Given the description of an element on the screen output the (x, y) to click on. 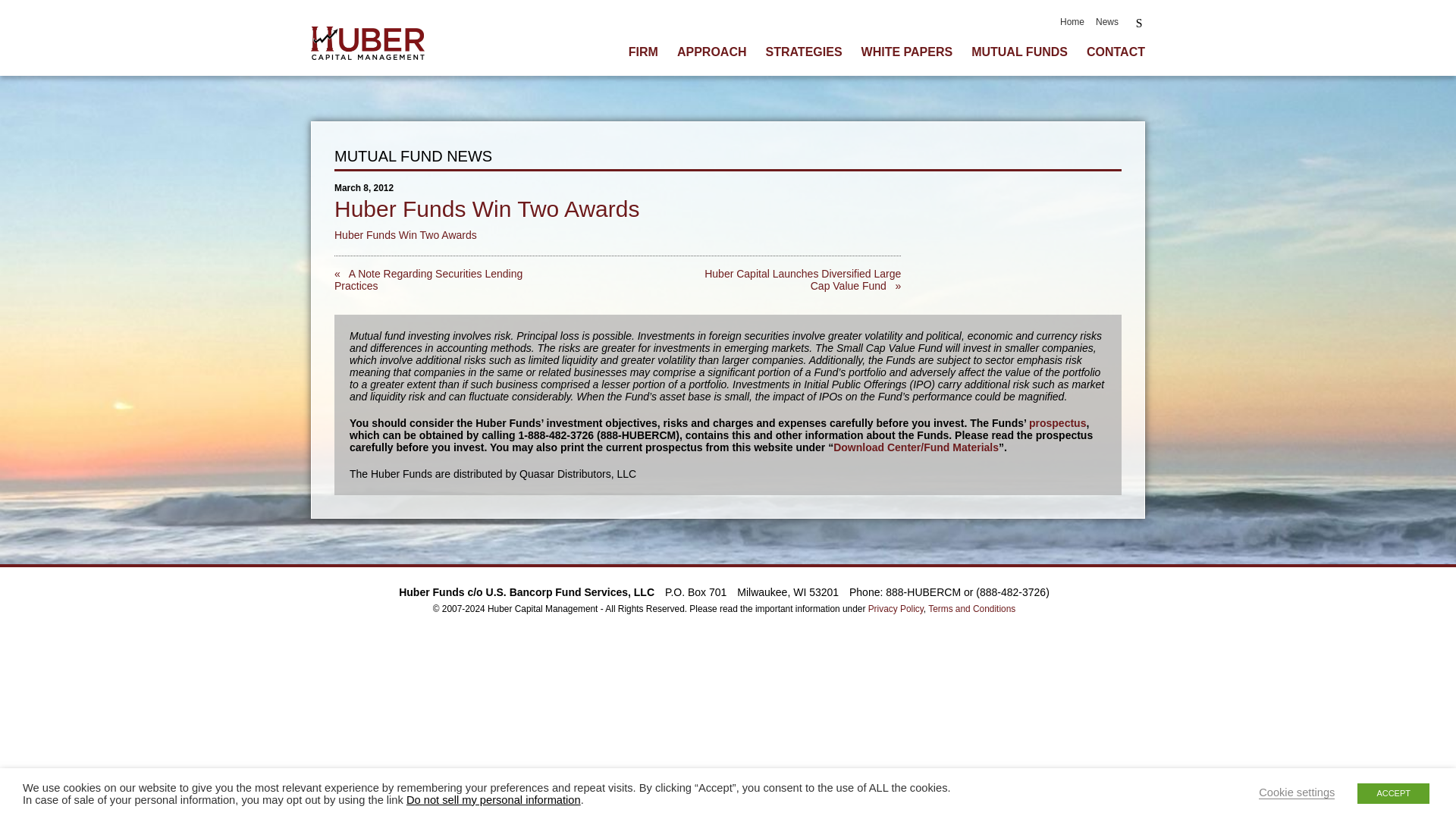
MUTUAL FUNDS (1019, 51)
WHITE PAPERS (907, 51)
Home (1071, 21)
News (1107, 21)
CONTACT (1115, 51)
APPROACH (711, 51)
STRATEGIES (804, 51)
FIRM (643, 51)
